Given the description of an element on the screen output the (x, y) to click on. 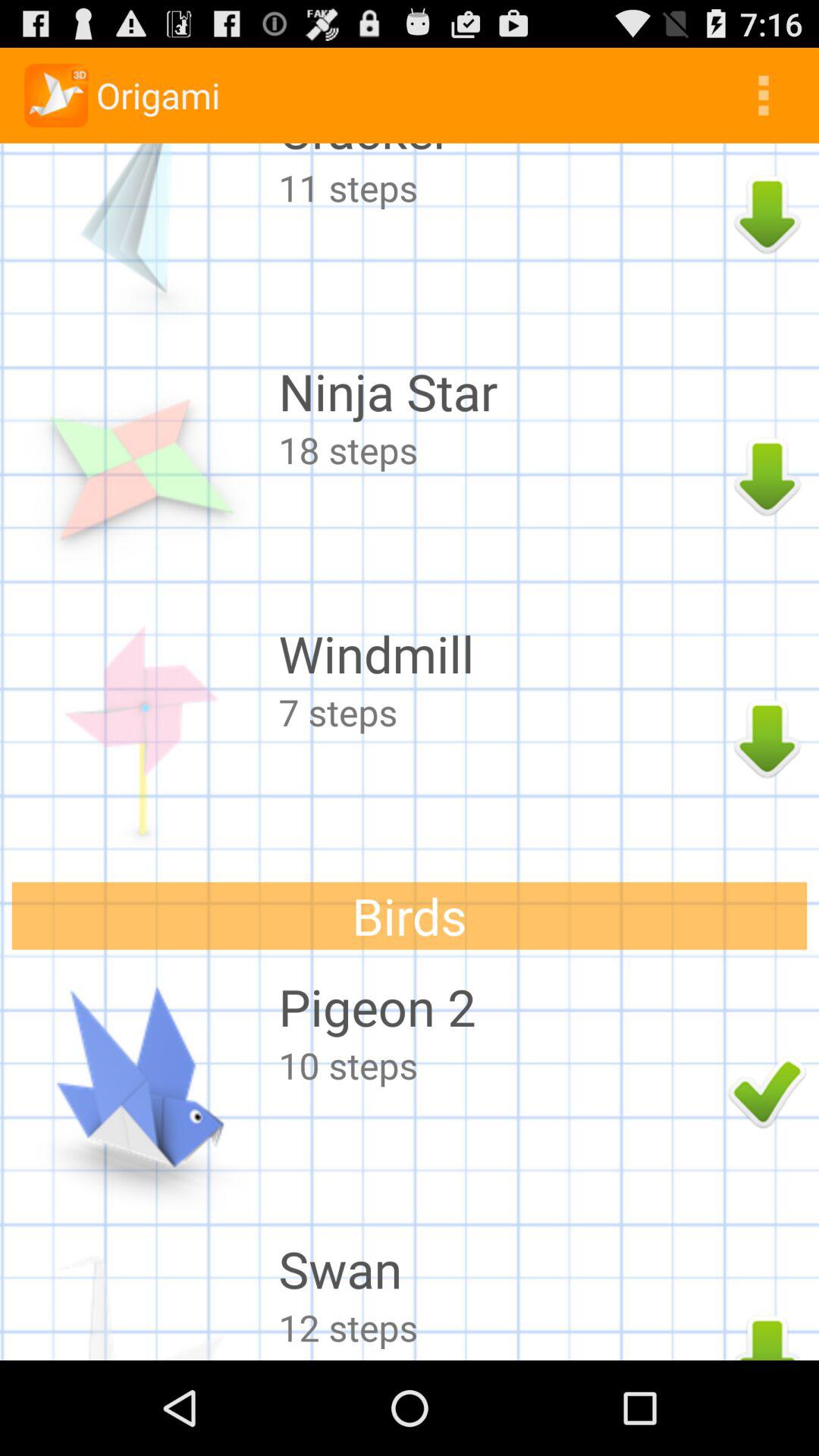
open icon below birds icon (498, 1006)
